Given the description of an element on the screen output the (x, y) to click on. 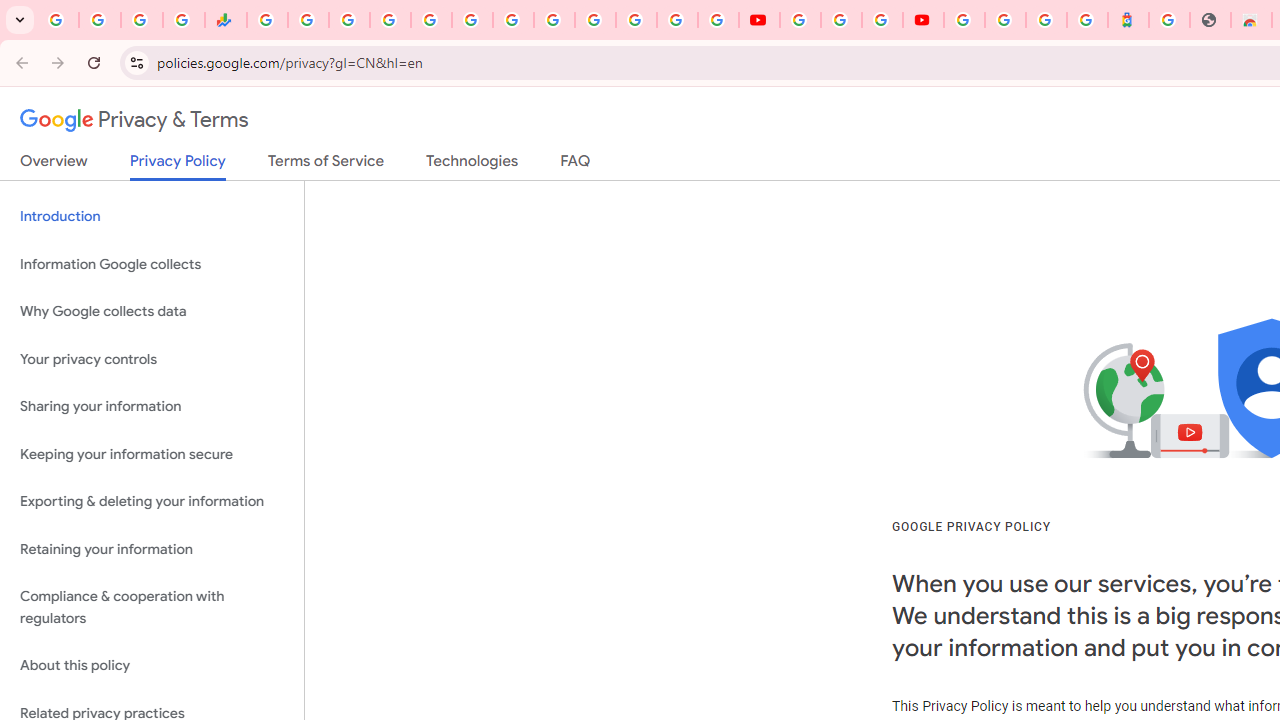
Sign in - Google Accounts (964, 20)
Privacy Checkup (717, 20)
Terms of Service (326, 165)
Android TV Policies and Guidelines - Transparency Center (512, 20)
Your privacy controls (152, 358)
Create your Google Account (881, 20)
